Given the description of an element on the screen output the (x, y) to click on. 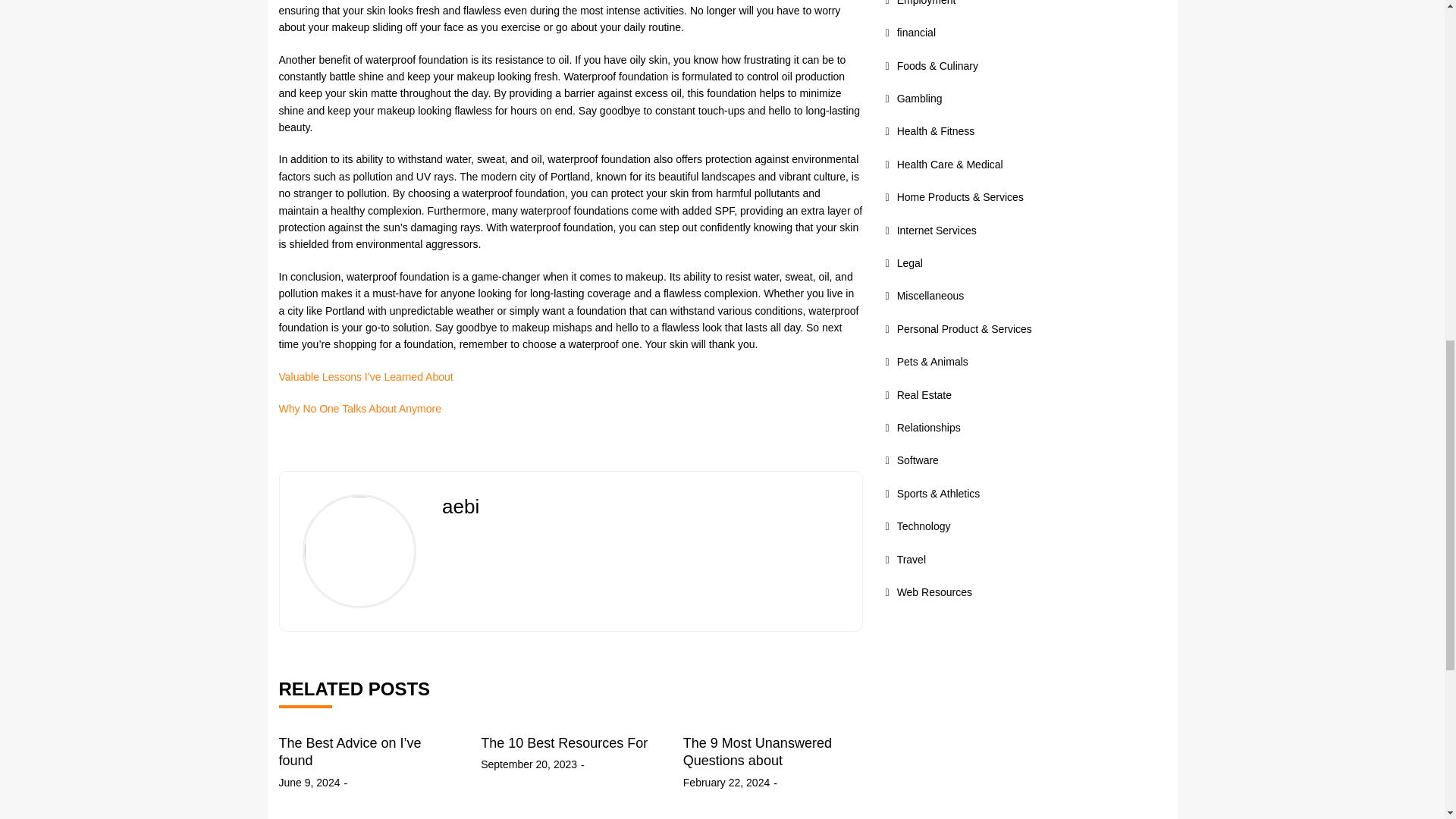
The 10 Best Resources For (563, 743)
February 22, 2024 (726, 782)
September 20, 2023 (528, 764)
June 9, 2024 (309, 782)
The 9 Most Unanswered Questions about (756, 751)
Employment (920, 2)
Why No One Talks About Anymore (360, 408)
